Given the description of an element on the screen output the (x, y) to click on. 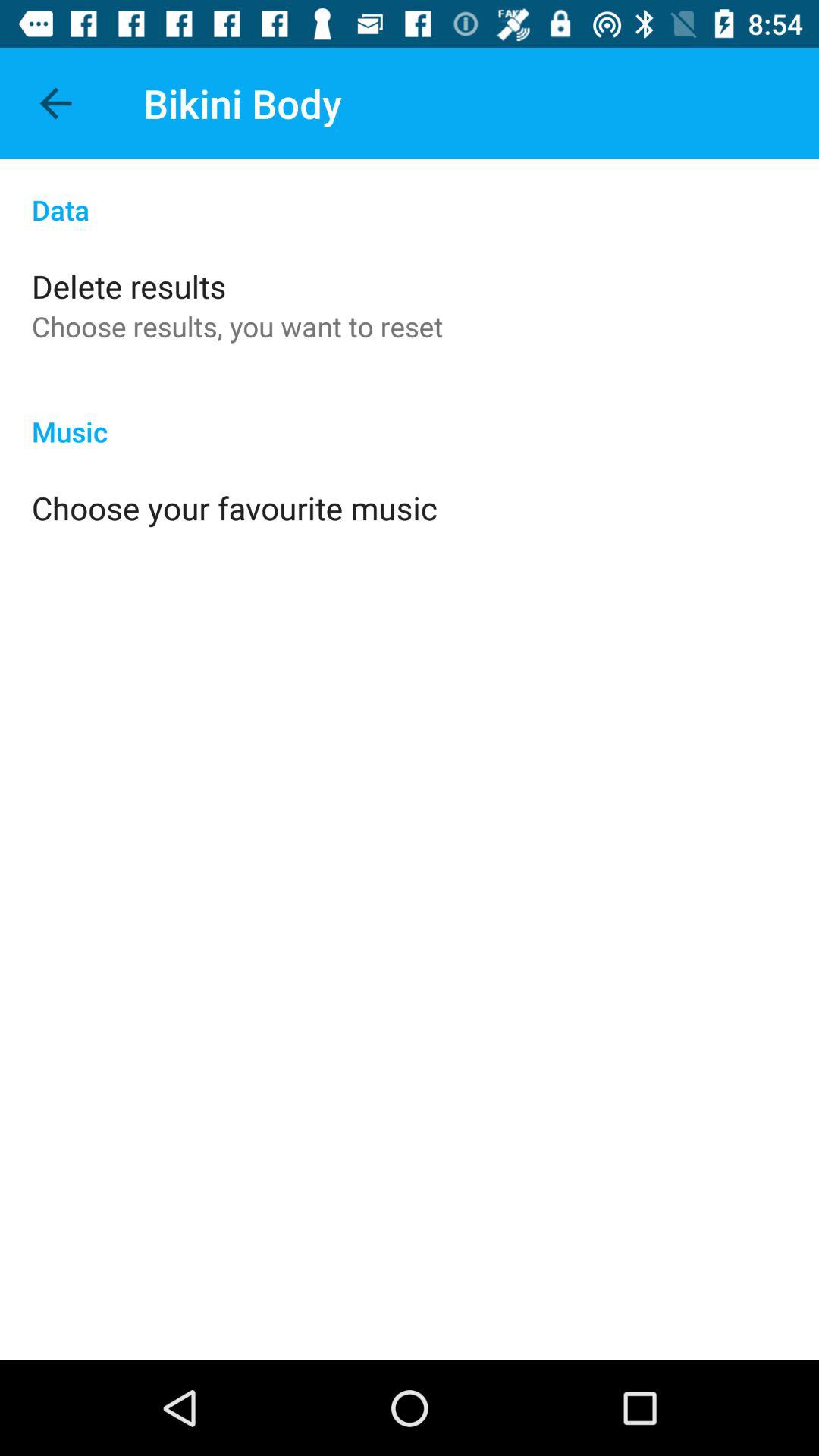
click data item (409, 193)
